Given the description of an element on the screen output the (x, y) to click on. 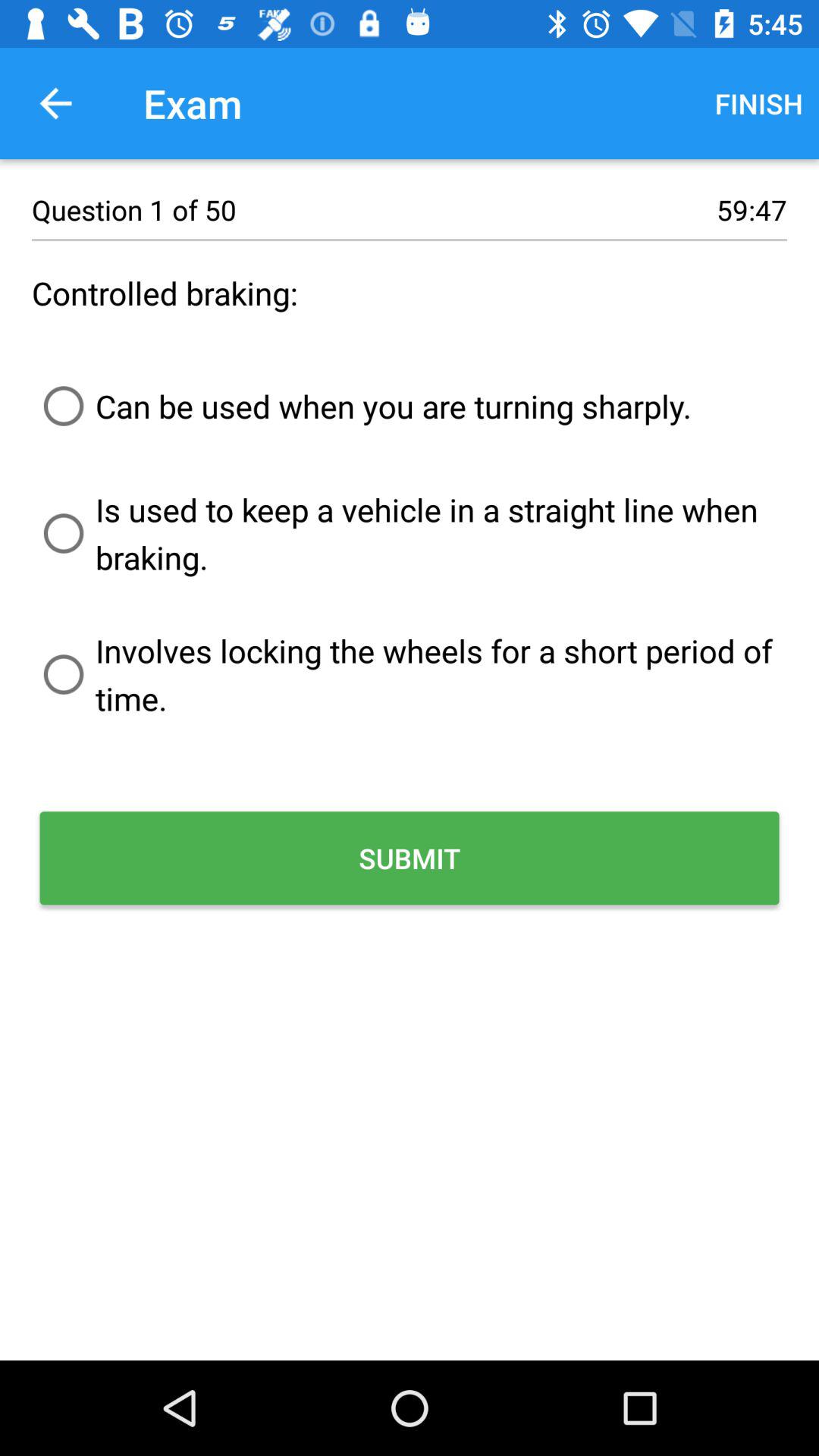
press item above is used to (361, 405)
